Given the description of an element on the screen output the (x, y) to click on. 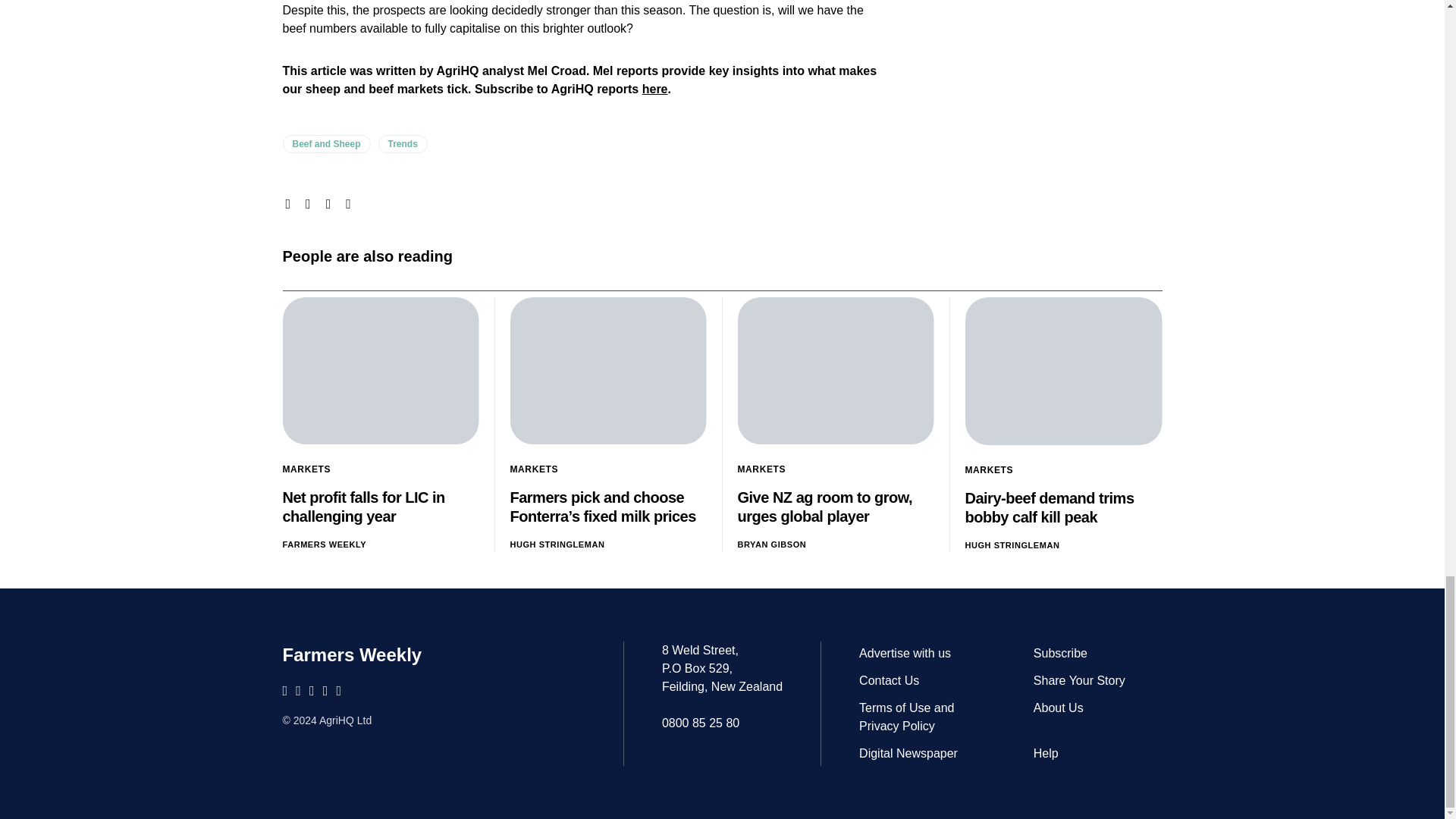
View all posts by Hugh Stringleman (556, 544)
View all posts by Farmers Weekly (324, 544)
View all posts by Hugh Stringleman (1011, 545)
View all posts by Bryan Gibson (771, 544)
